Given the description of an element on the screen output the (x, y) to click on. 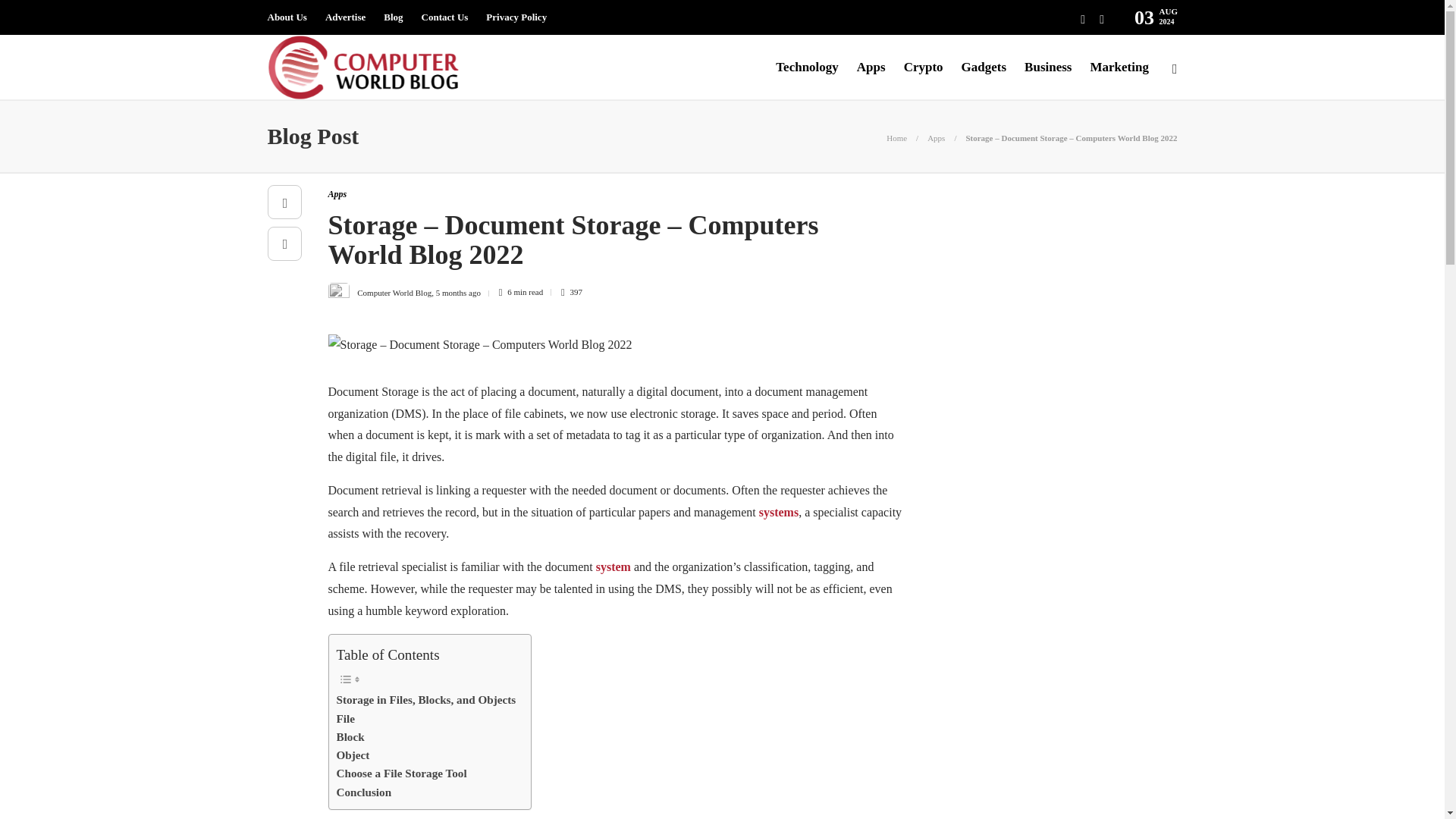
Marketing (1118, 66)
Contact Us (445, 17)
File (345, 719)
Choose a File Storage Tool (401, 773)
Home (896, 137)
Storage in Files, Blocks, and Objects (426, 700)
Technology (807, 66)
Conclusion (363, 791)
Block (350, 737)
Advertise (344, 17)
